Given the description of an element on the screen output the (x, y) to click on. 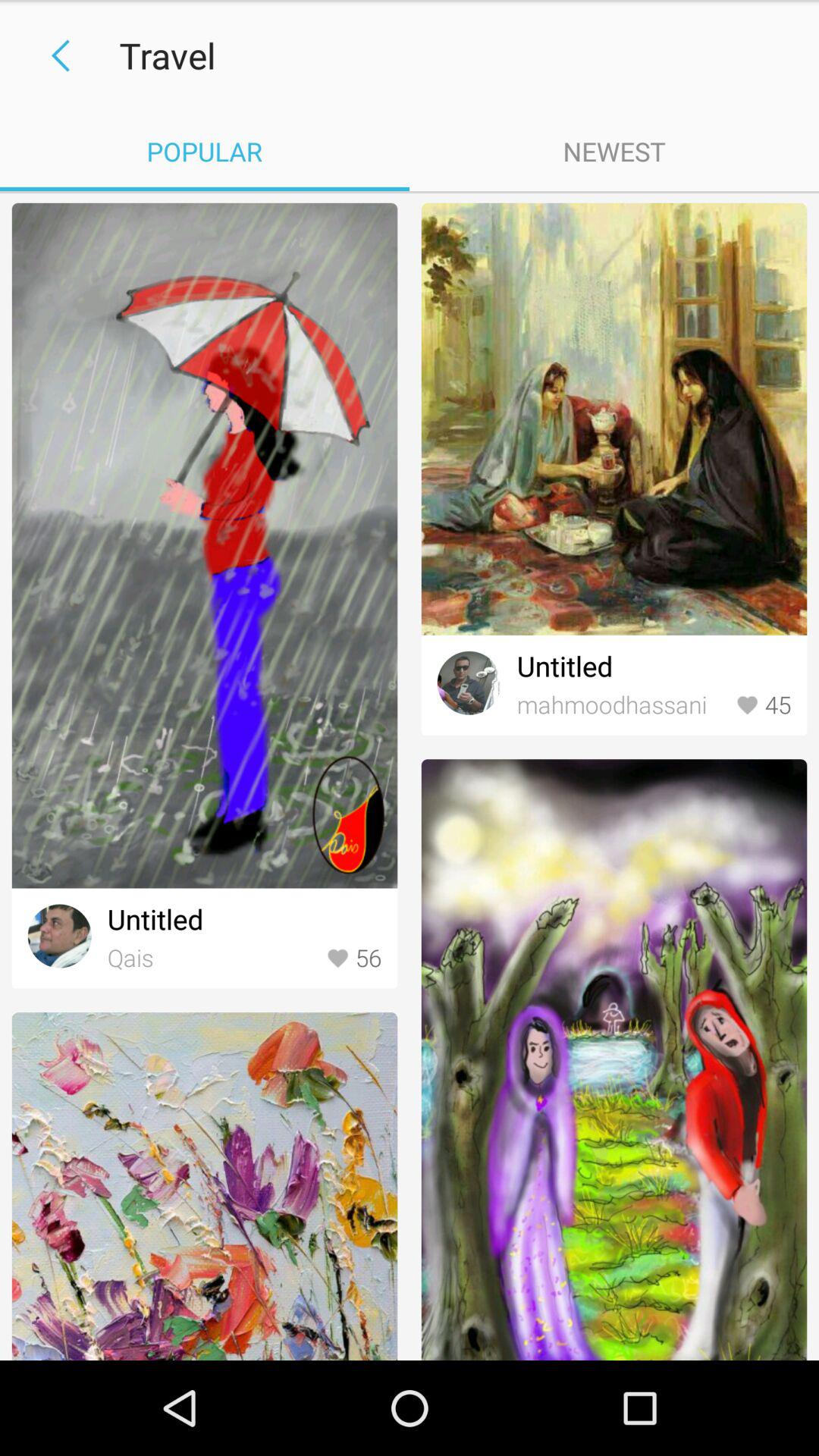
flip to 45 item (762, 705)
